Given the description of an element on the screen output the (x, y) to click on. 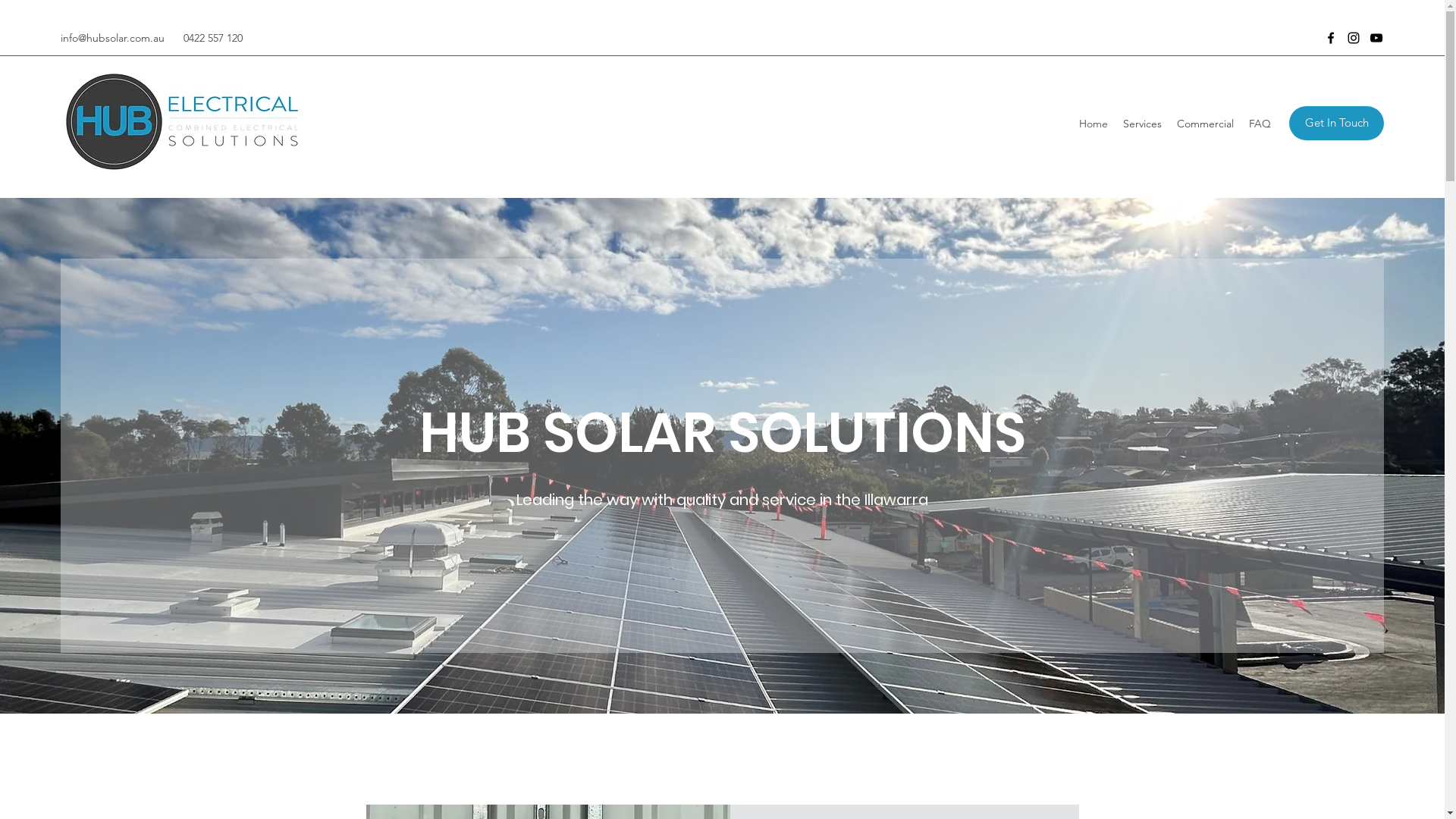
info@hubsolar.com.au Element type: text (112, 37)
Services Element type: text (1142, 123)
FAQ Element type: text (1259, 123)
Commercial Element type: text (1205, 123)
Get In Touch Element type: text (1336, 123)
Home Element type: text (1093, 123)
